Given the description of an element on the screen output the (x, y) to click on. 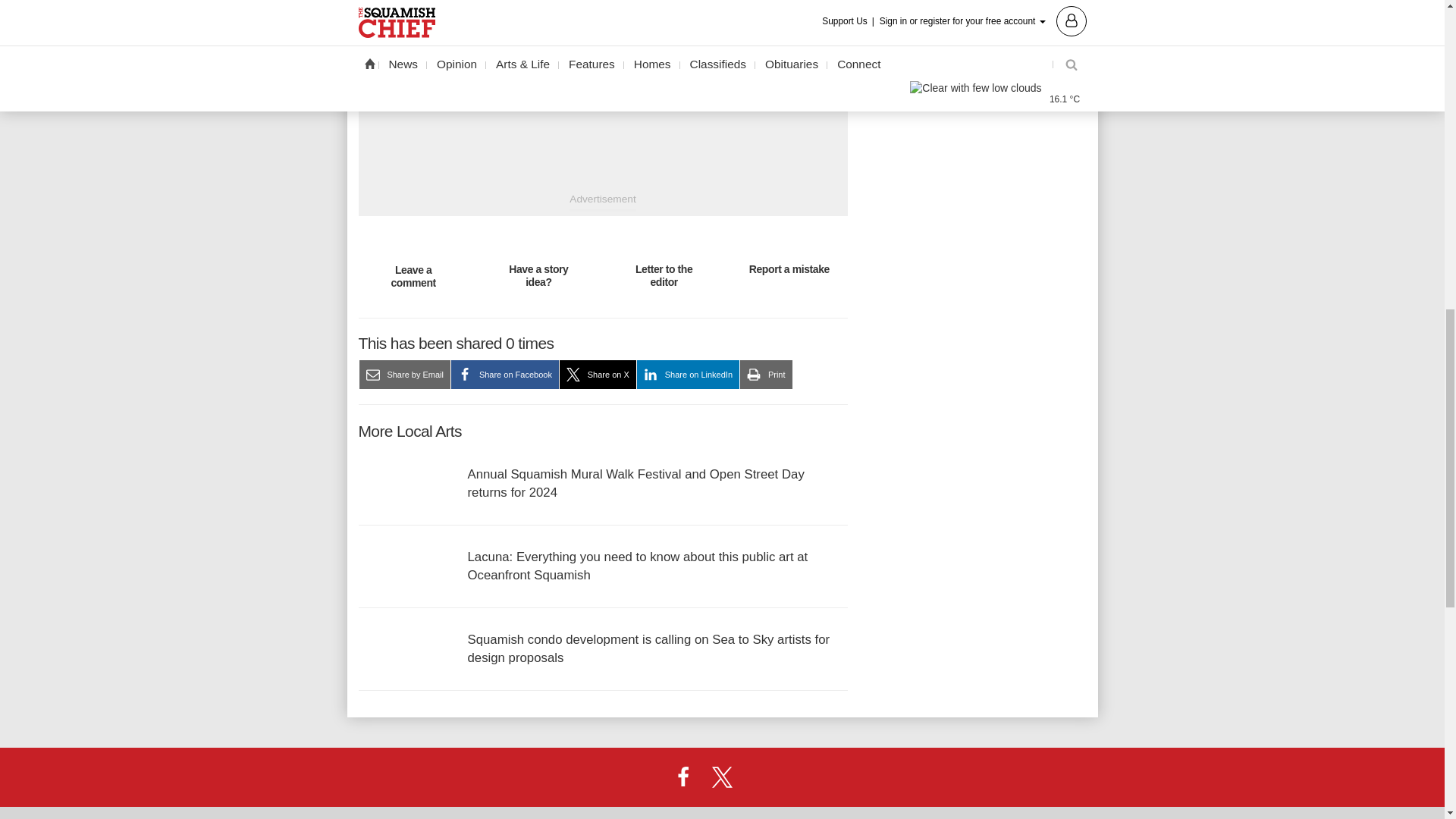
Instagram (760, 776)
Facebook (683, 776)
X (721, 776)
